Given the description of an element on the screen output the (x, y) to click on. 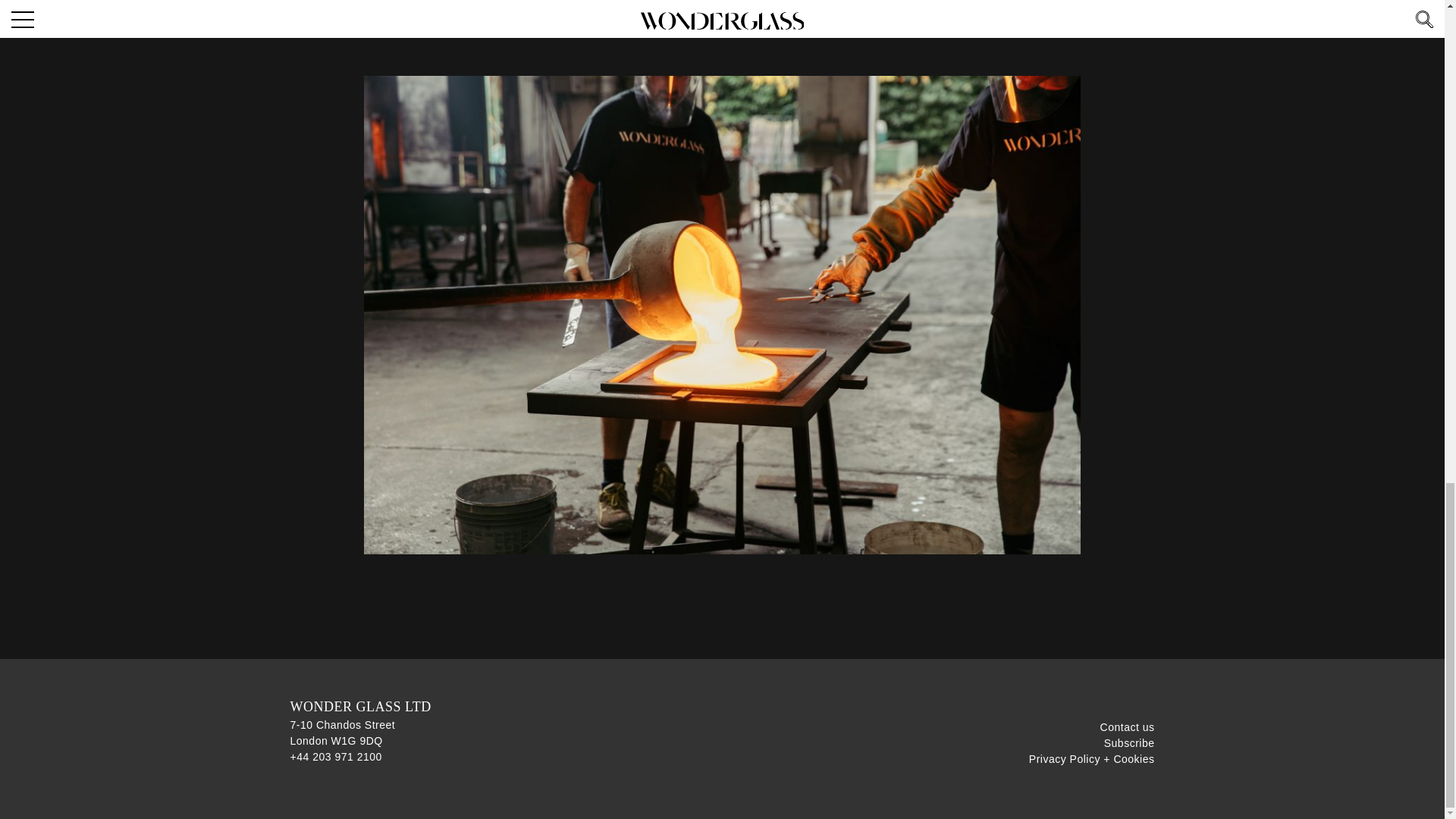
Subscribe (1128, 743)
Contact us (1127, 727)
